Given the description of an element on the screen output the (x, y) to click on. 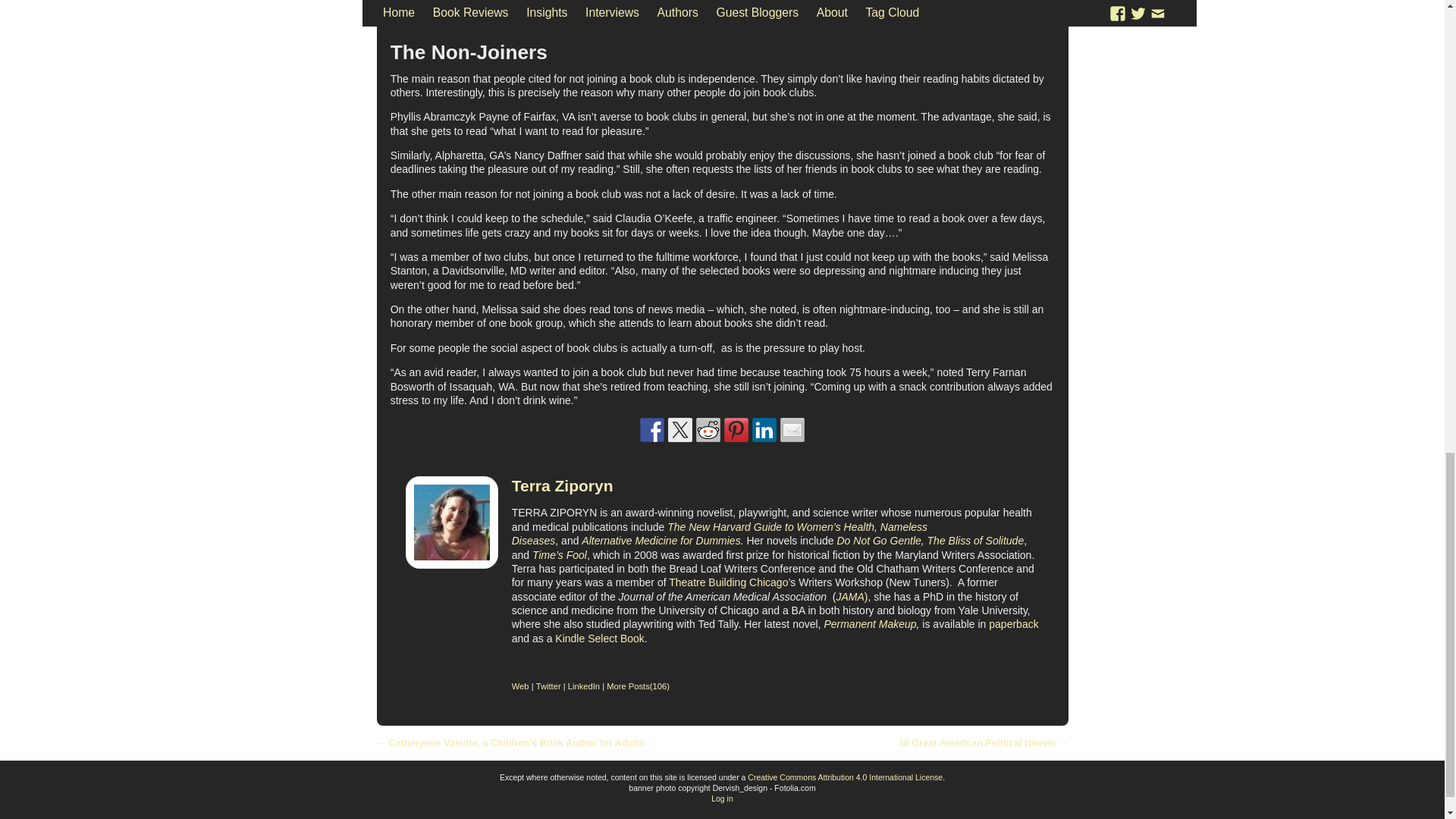
Share on Reddit (707, 429)
Share on Facebook (651, 429)
Pin it with Pinterest (735, 429)
Share on Twitter (680, 429)
Terra Ziporyn (562, 485)
Share by email (792, 429)
Share on Linkedin (764, 429)
